Given the description of an element on the screen output the (x, y) to click on. 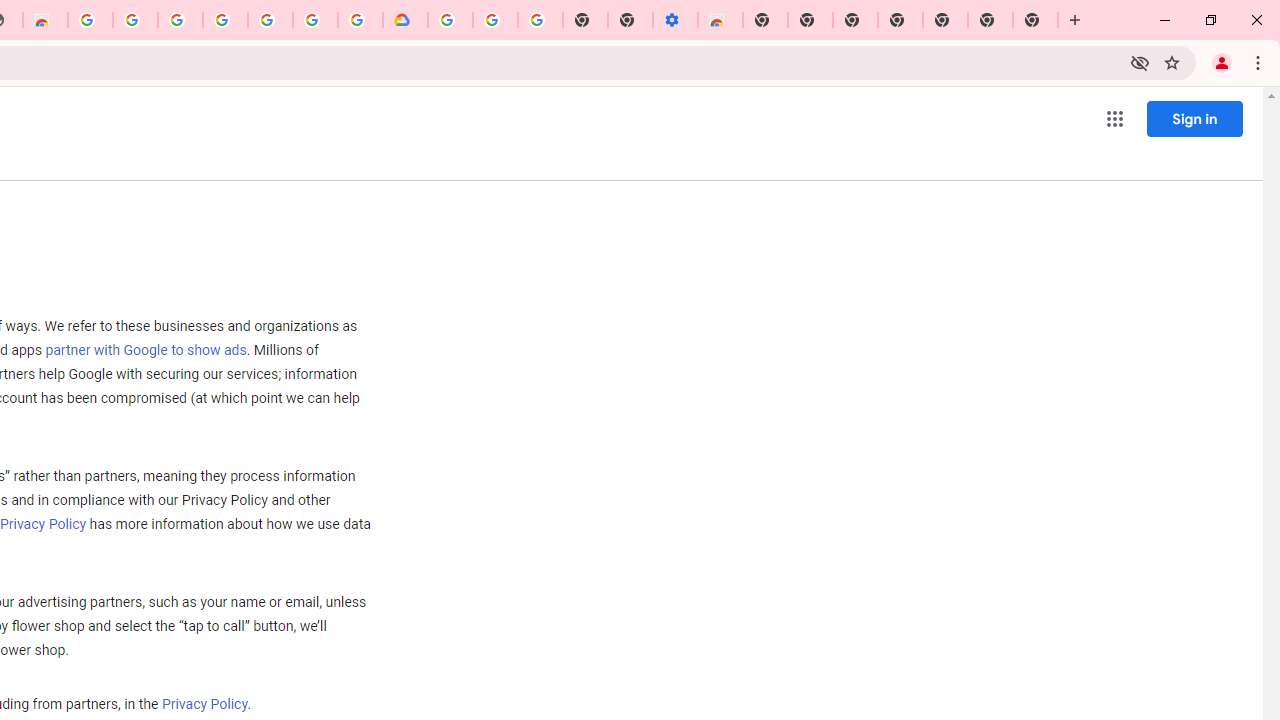
Chrome Web Store - Household (45, 20)
Sign in - Google Accounts (180, 20)
New Tab (944, 20)
Turn cookies on or off - Computer - Google Account Help (540, 20)
Ad Settings (134, 20)
New Tab (1035, 20)
Sign in - Google Accounts (450, 20)
Sign in - Google Accounts (315, 20)
